Given the description of an element on the screen output the (x, y) to click on. 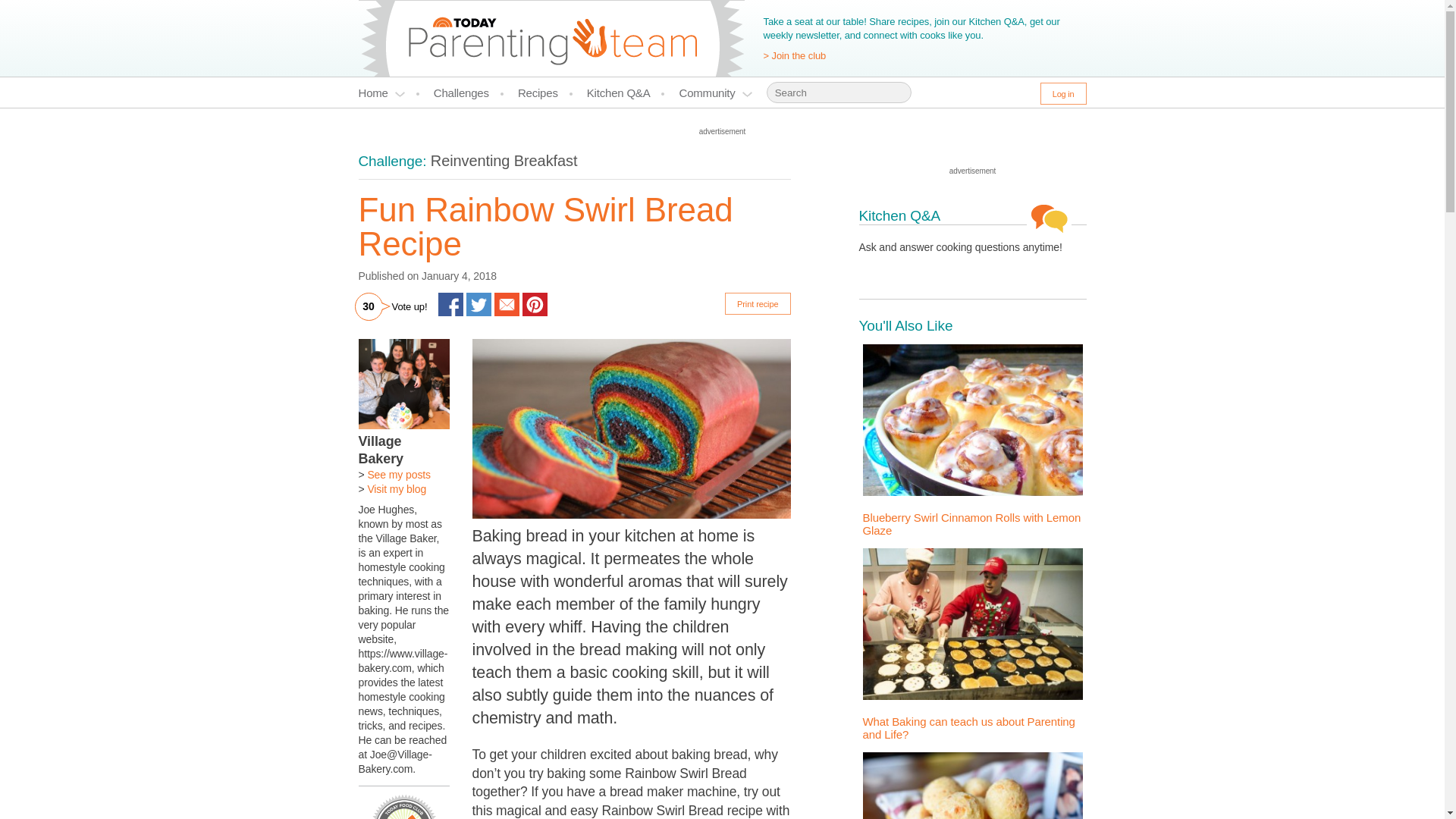
Recipes (545, 92)
Challenges (468, 92)
Community (715, 92)
advertisement (721, 131)
Print recipe (757, 303)
Vote up! (409, 306)
Reinventing Breakfast (504, 160)
See my posts (398, 474)
TODAY Food Club (551, 38)
Home (388, 92)
Log in (1063, 93)
